Given the description of an element on the screen output the (x, y) to click on. 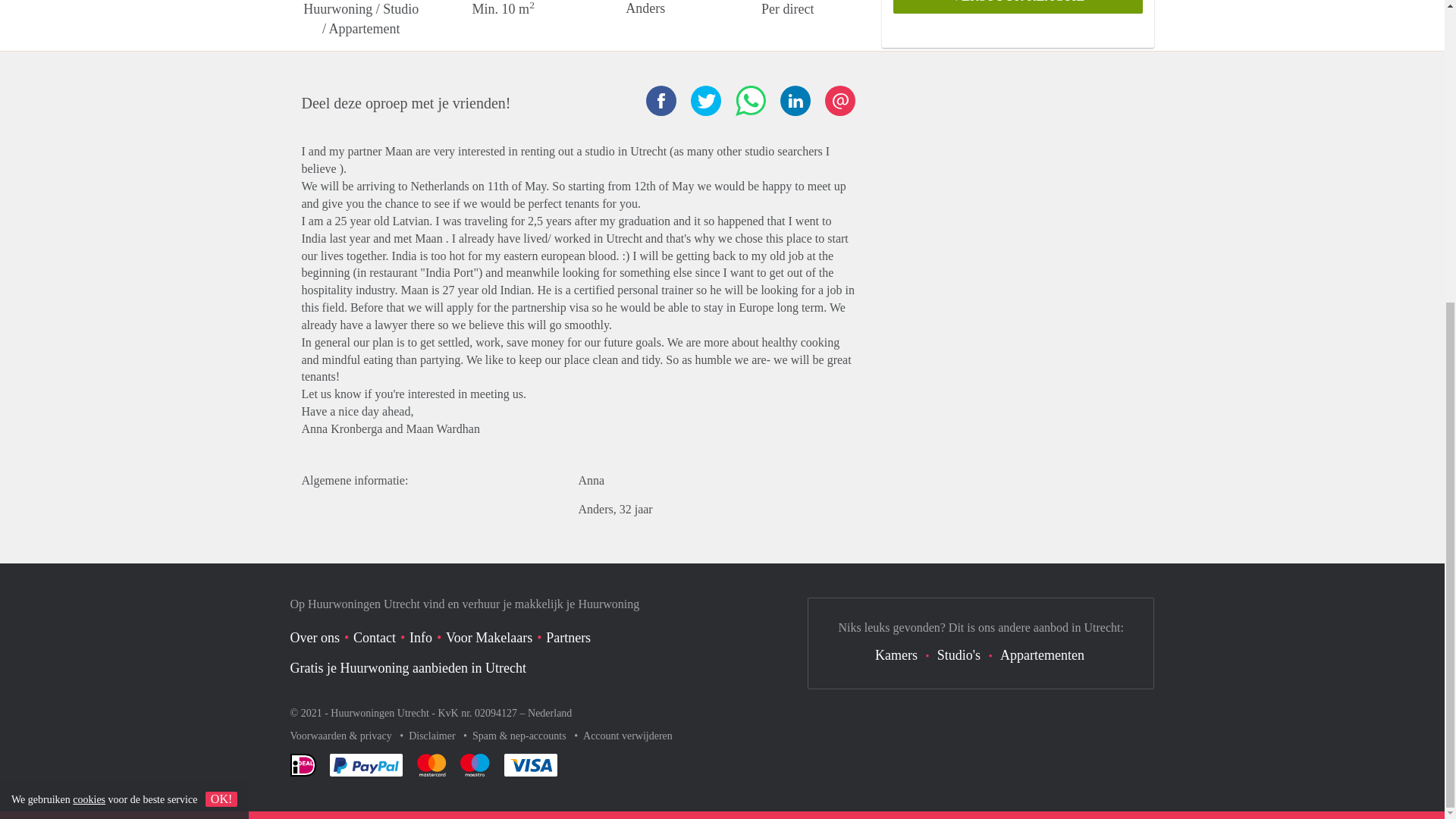
Studio's (958, 654)
Nederland (549, 713)
Appartementen (1042, 654)
Kamers (896, 654)
Onze Kamers in Utrecht (896, 654)
Partners (568, 637)
Over ons (314, 637)
Info (420, 637)
VERSTUUR REACTIE (1017, 6)
VERSTUUR REACTIE (1017, 6)
